Given the description of an element on the screen output the (x, y) to click on. 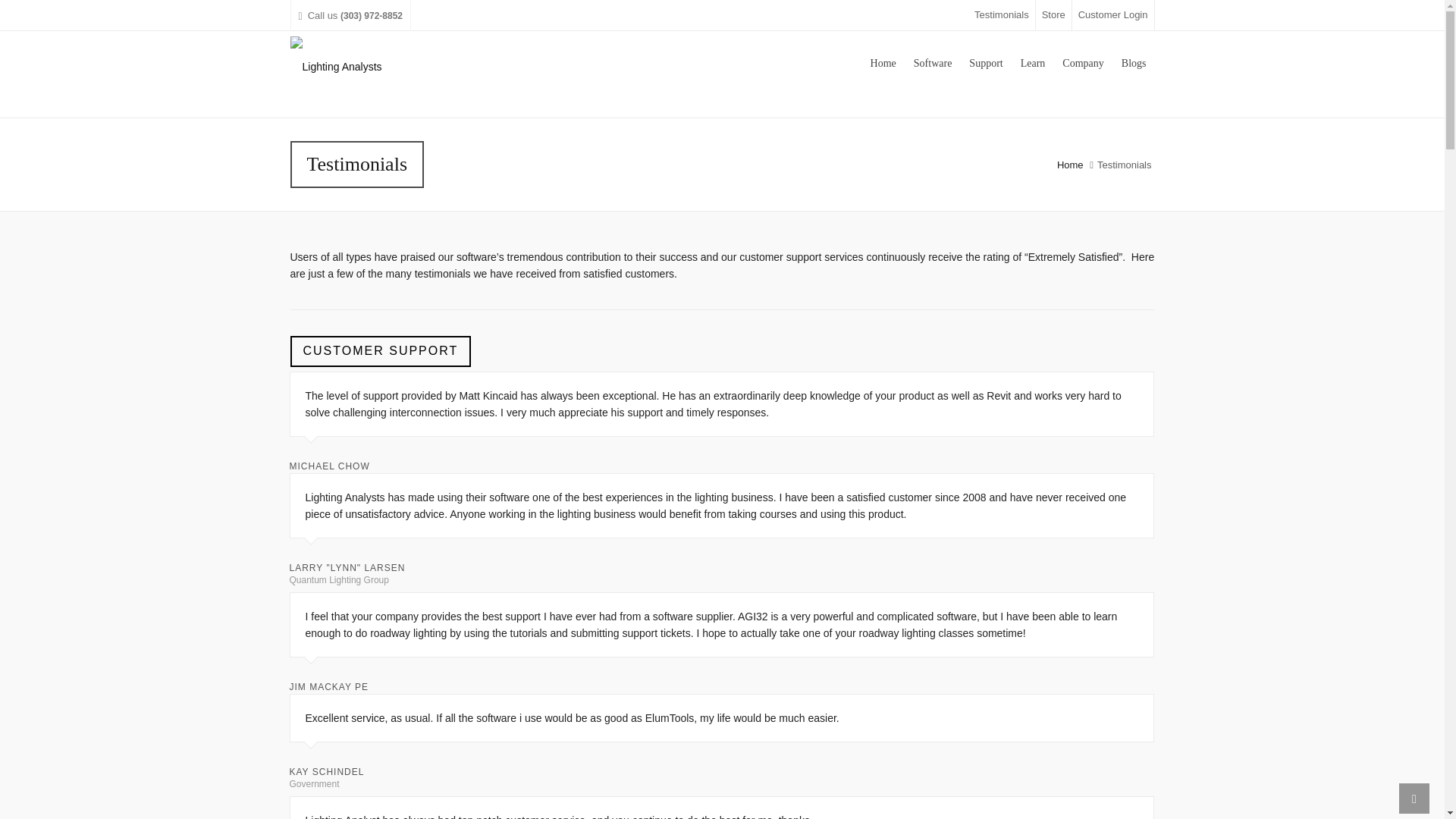
Testimonials (1004, 15)
Software (932, 61)
Store (1053, 15)
Customer Login (1112, 15)
